Given the description of an element on the screen output the (x, y) to click on. 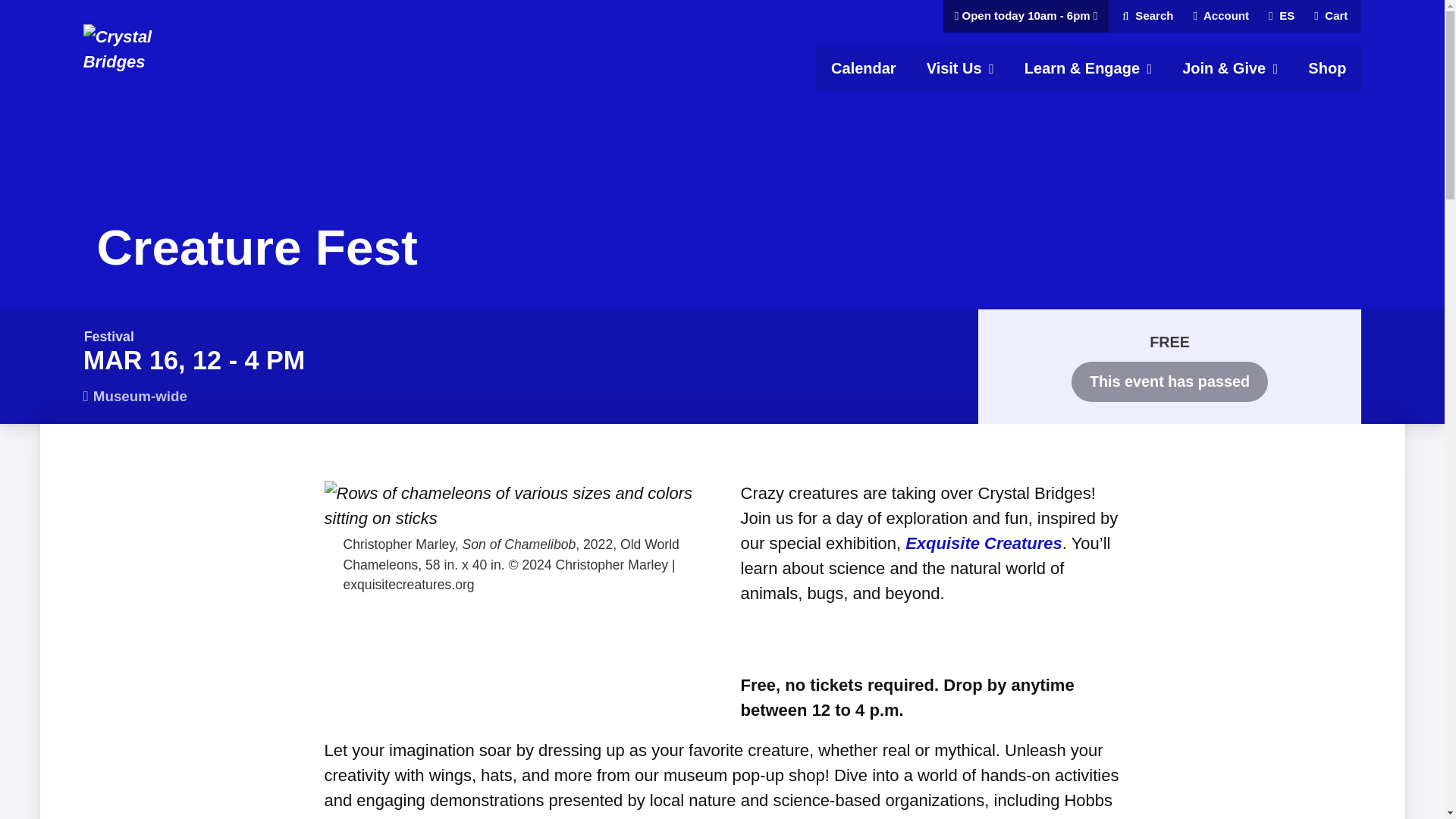
Calendar (863, 67)
Crystal Bridges (960, 67)
The Momentary (160, 49)
Home (321, 48)
